Given the description of an element on the screen output the (x, y) to click on. 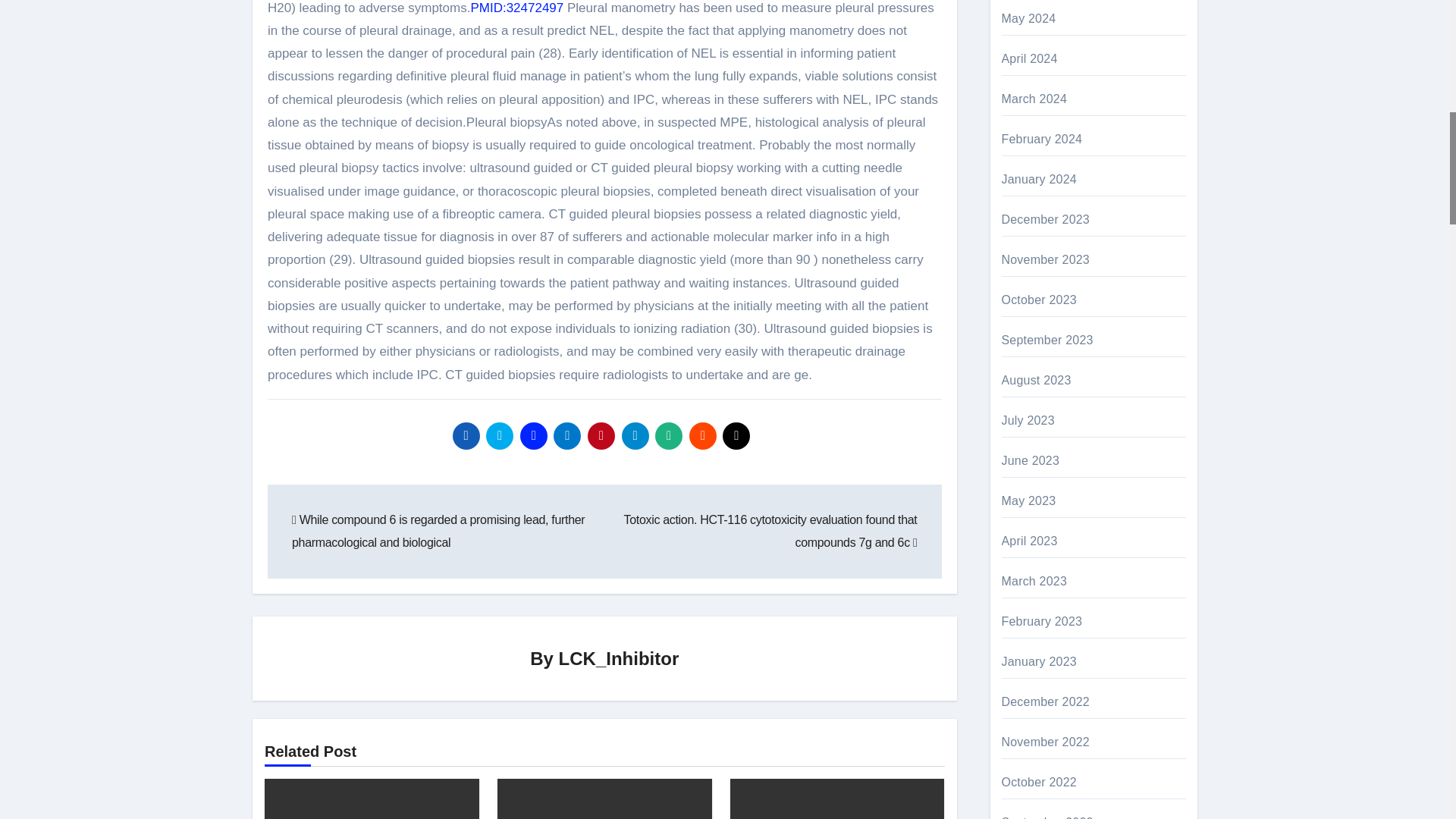
PMID:32472497 (516, 7)
